Given the description of an element on the screen output the (x, y) to click on. 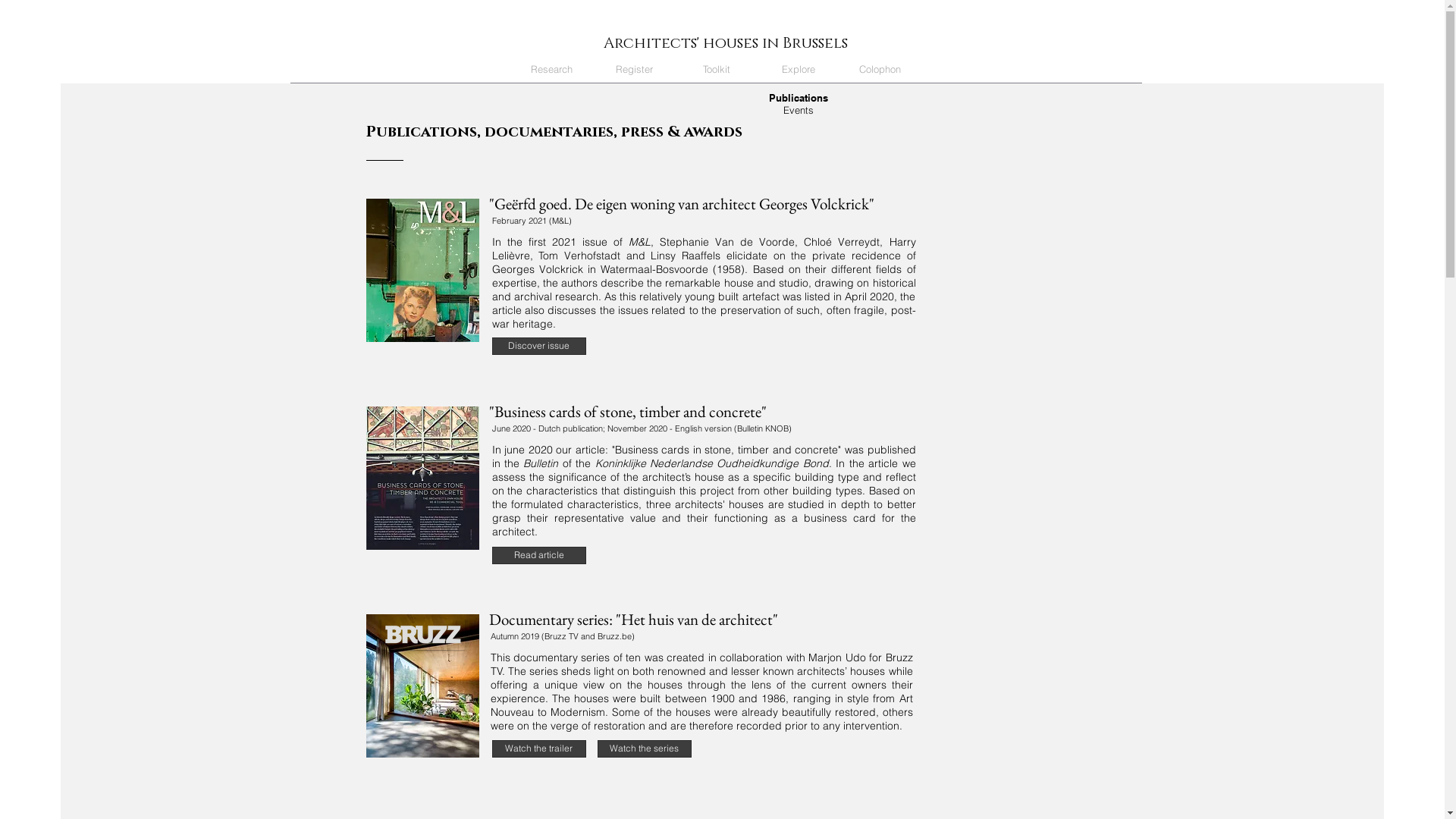
Watch the series Element type: text (644, 748)
Toolkit Element type: text (715, 69)
Explore Element type: text (797, 69)
Site Search Element type: hover (1043, 70)
Architects' houses in Brussels Element type: text (725, 43)
Watch the trailer Element type: text (538, 748)
Read article Element type: text (538, 555)
Discover issue Element type: text (538, 345)
Research Element type: text (550, 69)
Colophon Element type: text (879, 69)
Events Element type: text (797, 109)
Register Element type: text (634, 69)
